Given the description of an element on the screen output the (x, y) to click on. 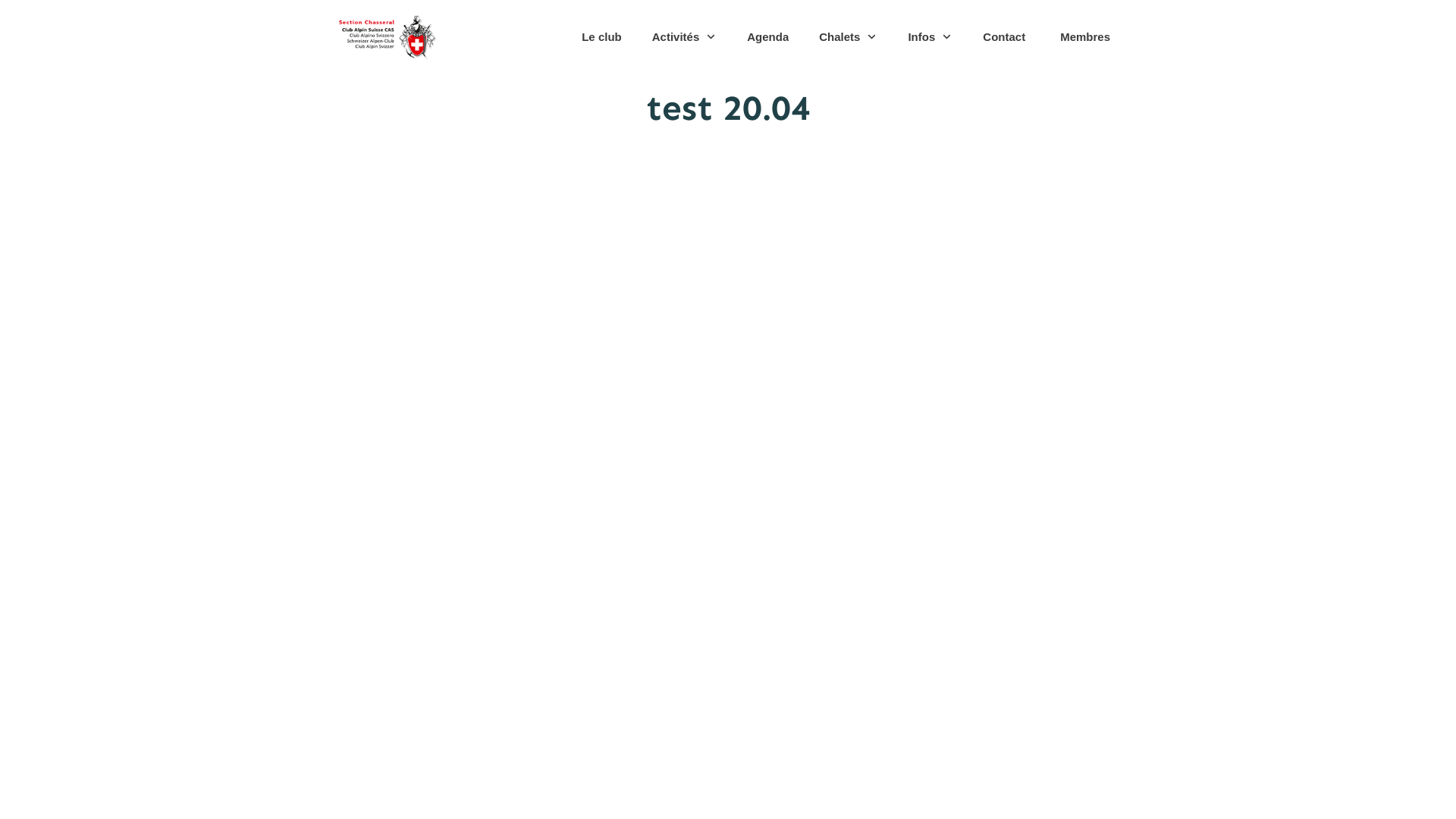
test 20.04 Element type: text (728, 107)
Membres Element type: text (1085, 36)
Chalets Element type: text (848, 36)
Contact Element type: text (1003, 36)
Infos Element type: text (929, 36)
Agenda Element type: text (767, 36)
Le club Element type: text (601, 36)
